Given the description of an element on the screen output the (x, y) to click on. 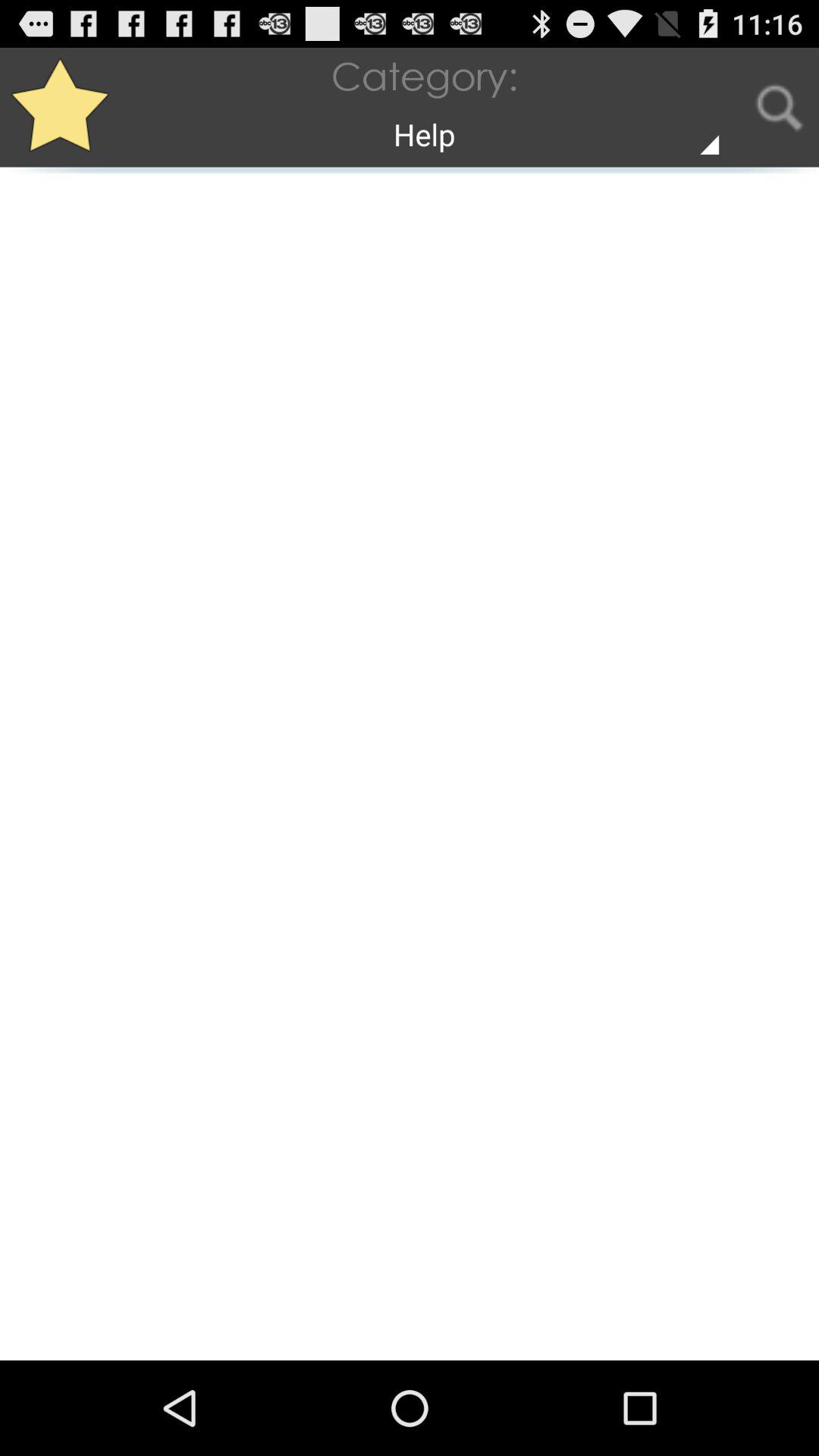
search for phrases (779, 107)
